Given the description of an element on the screen output the (x, y) to click on. 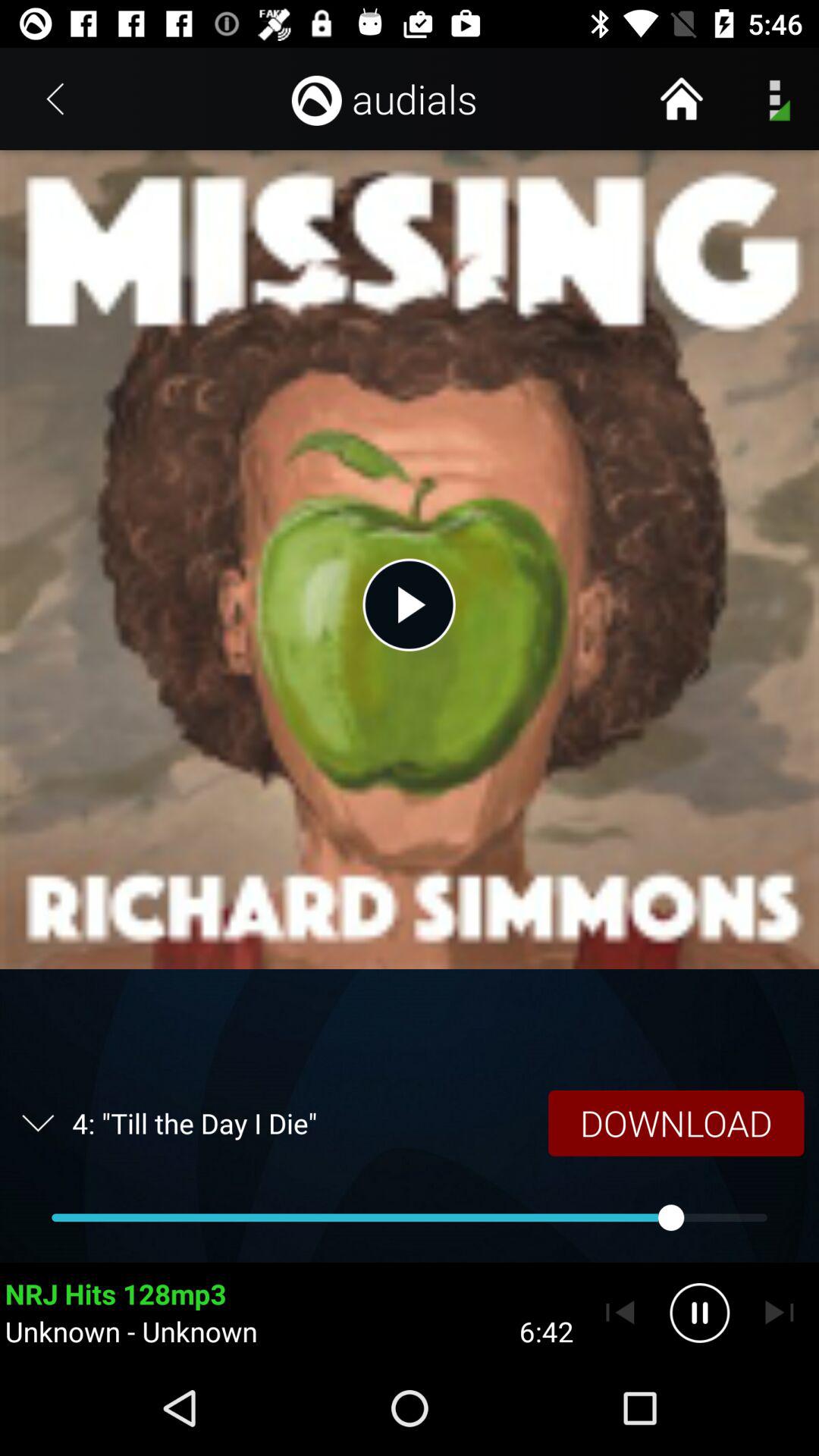
press the download (676, 1123)
